Given the description of an element on the screen output the (x, y) to click on. 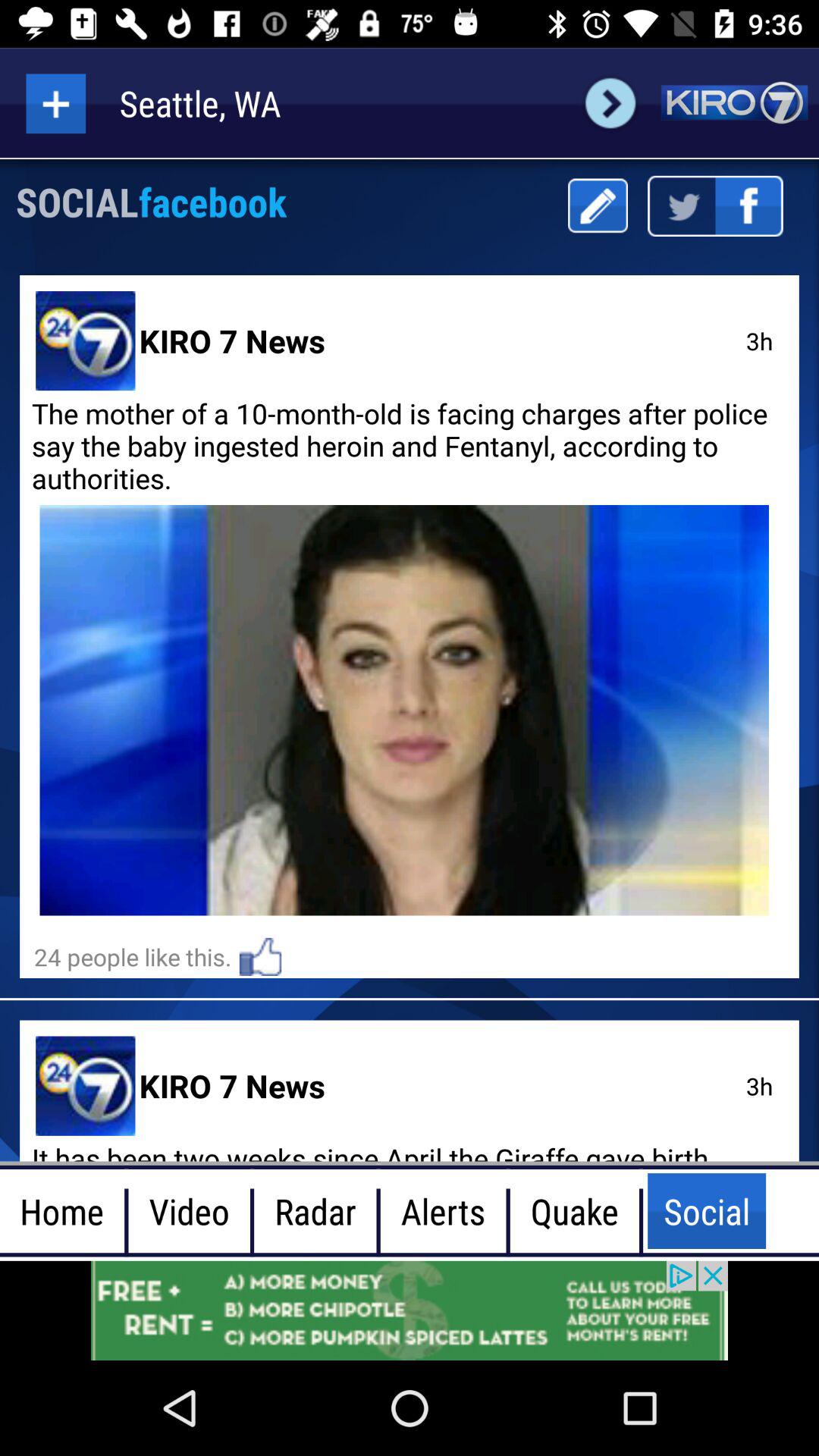
open menu (55, 103)
